Given the description of an element on the screen output the (x, y) to click on. 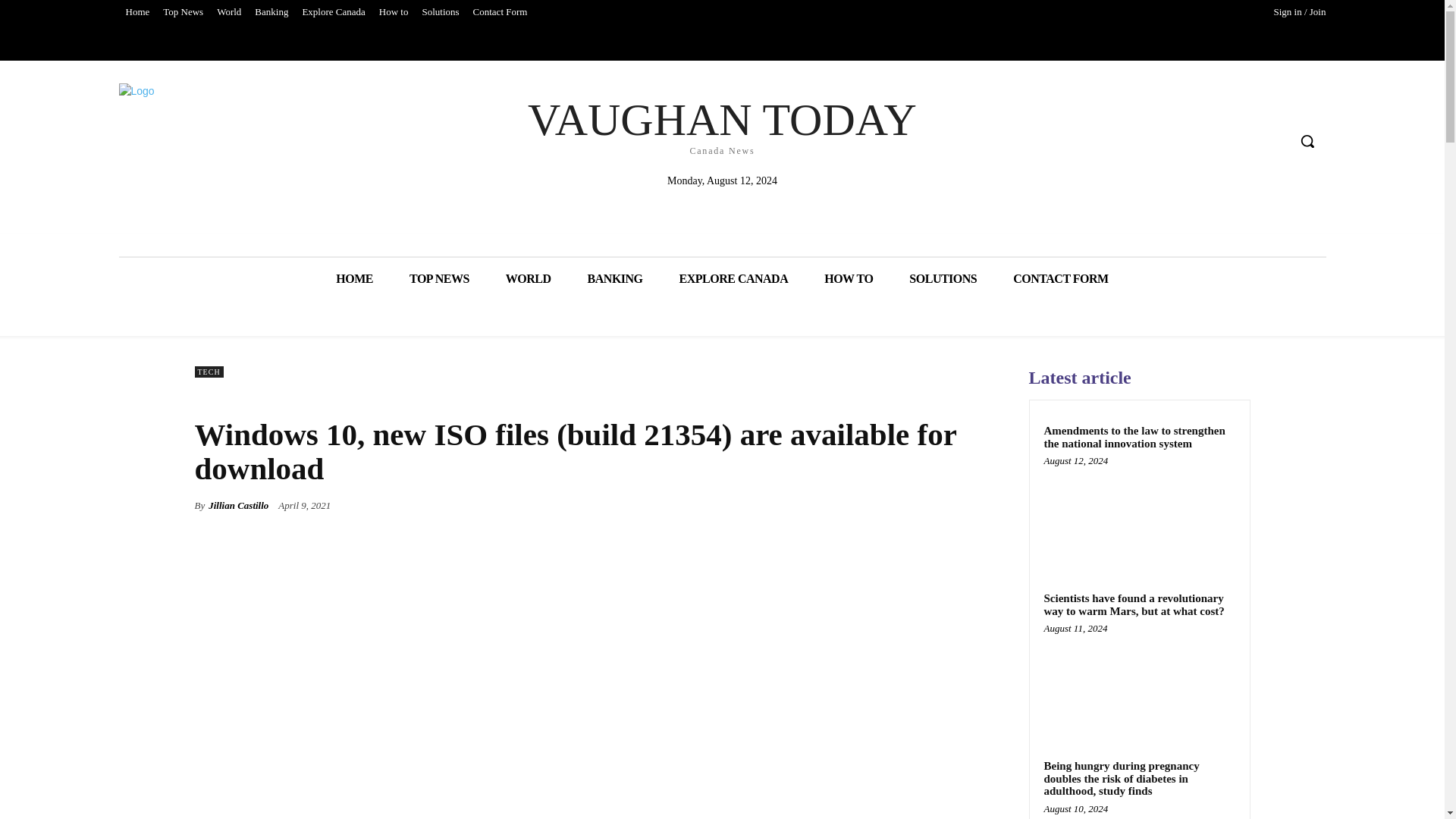
WORLD (528, 278)
TOP NEWS (439, 278)
BANKING (615, 278)
Explore Canada (333, 12)
HOW TO (848, 278)
Banking (271, 12)
Contact Form (499, 12)
Top News (182, 12)
How to (393, 12)
